Given the description of an element on the screen output the (x, y) to click on. 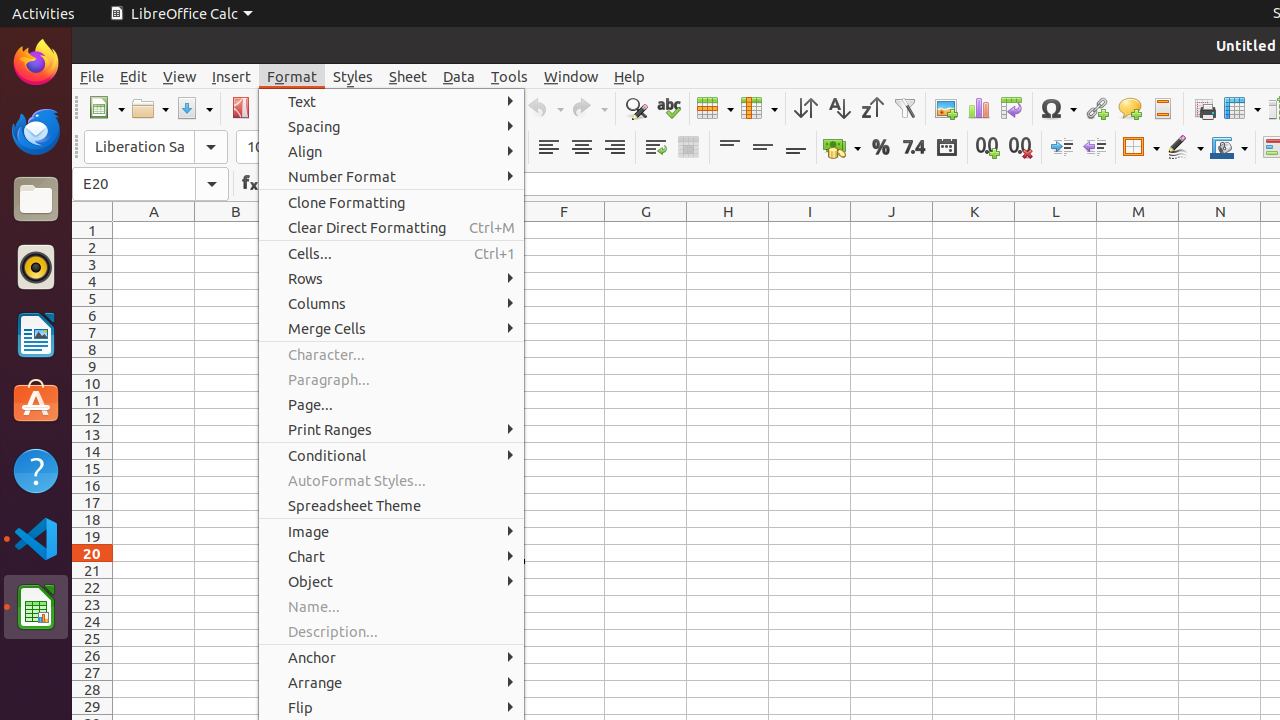
Conditional Element type: menu (391, 455)
Ubuntu Software Element type: push-button (36, 402)
Spacing Element type: menu (391, 126)
Align Bottom Element type: push-button (795, 147)
Columns Element type: menu (391, 303)
